Given the description of an element on the screen output the (x, y) to click on. 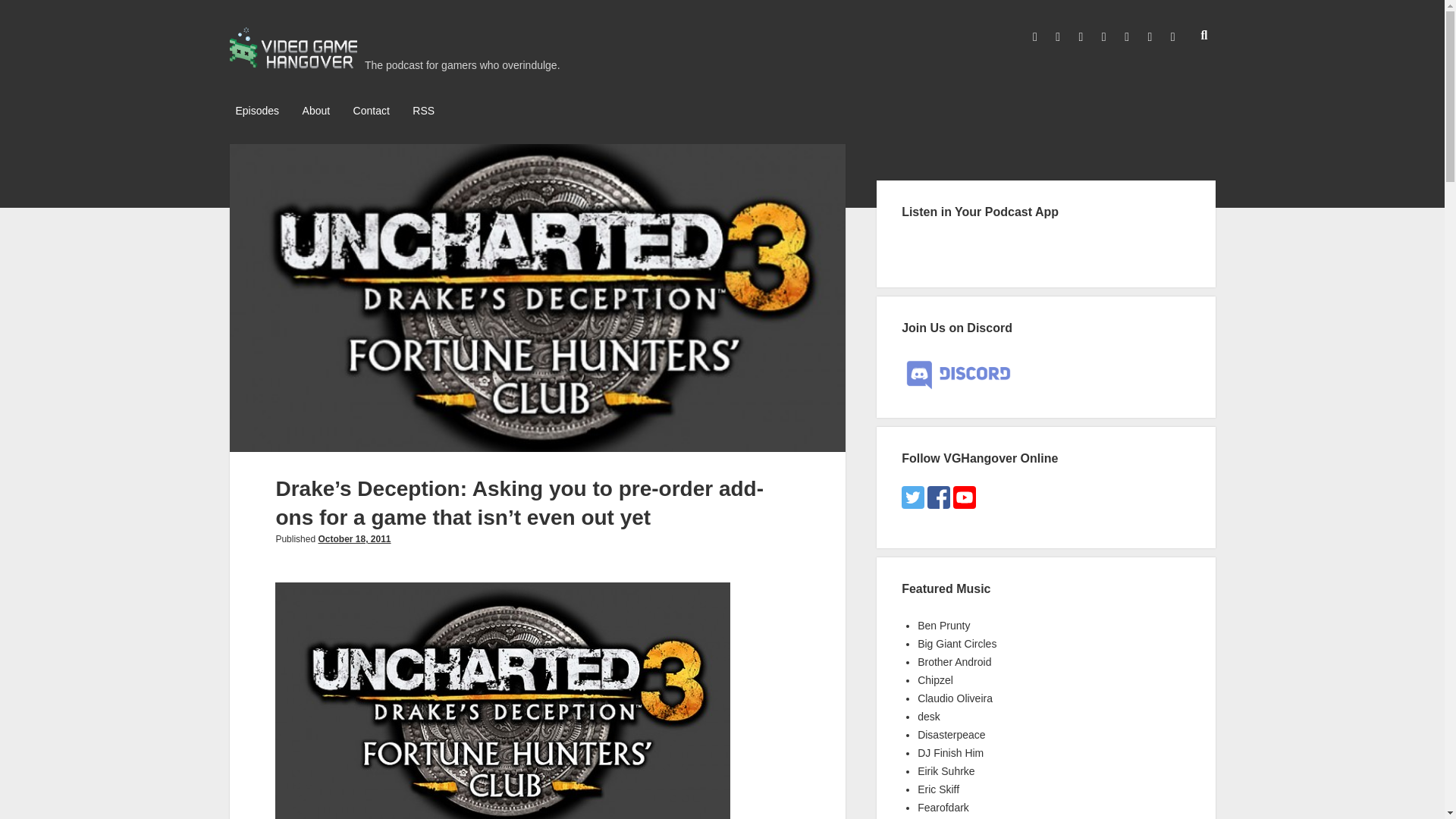
Episodes (256, 111)
Subscribe to VGHangover.com blog posts (423, 111)
Ben Prunty (943, 625)
About (316, 111)
Contact (371, 111)
October 18, 2011 (353, 538)
Video Game Hangover (292, 63)
RSS (423, 111)
Join us on Discord (957, 374)
